Given the description of an element on the screen output the (x, y) to click on. 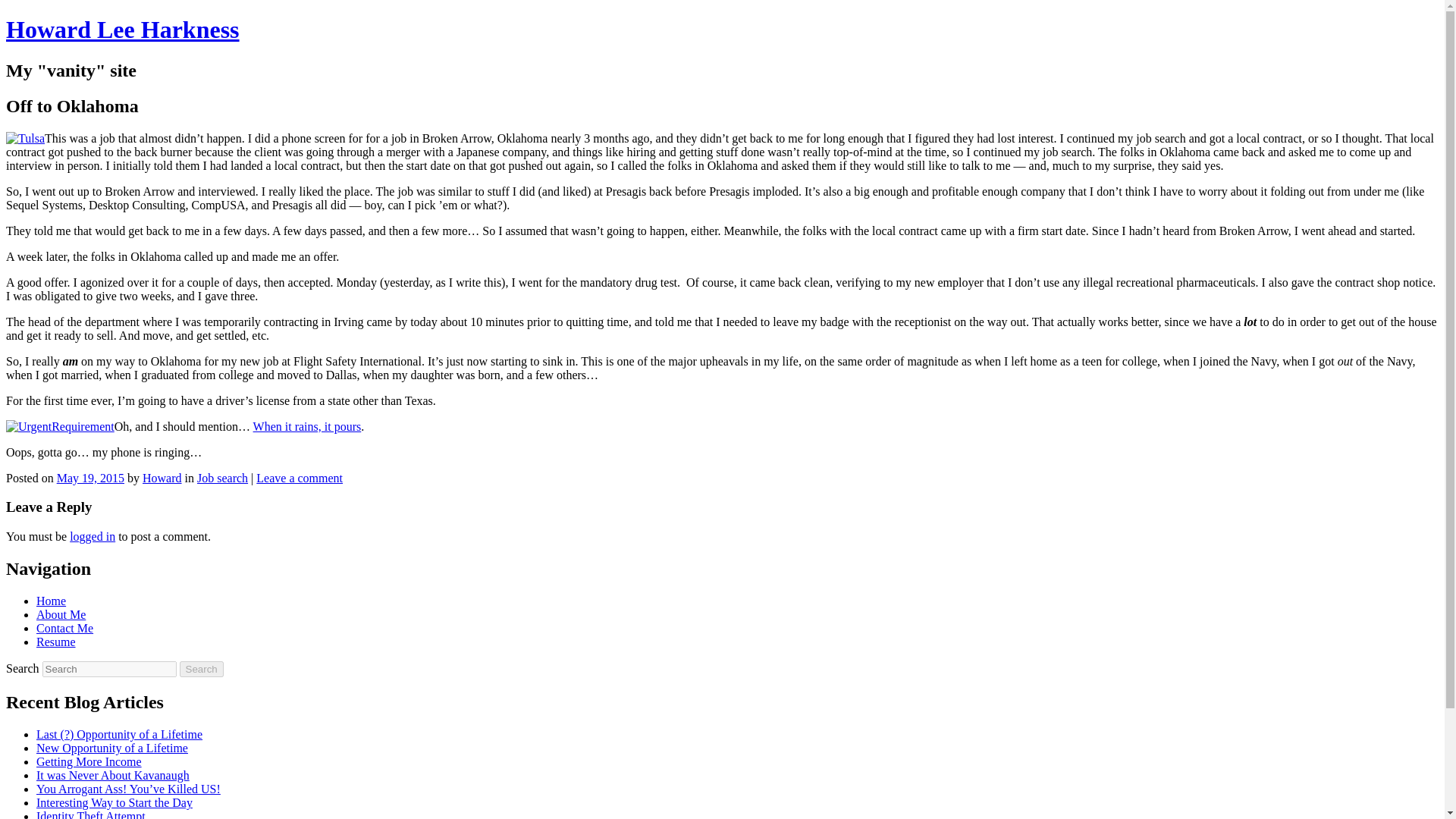
Job search (221, 477)
8:32 pm (89, 477)
It was Never About Kavanaugh (112, 775)
Howard (162, 477)
View all posts by Howard (162, 477)
Getting More Income (88, 761)
Interesting Way to Start the Day (114, 802)
Howard Lee Harkness (122, 29)
Resume (55, 641)
New Opportunity of a Lifetime (111, 748)
